Given the description of an element on the screen output the (x, y) to click on. 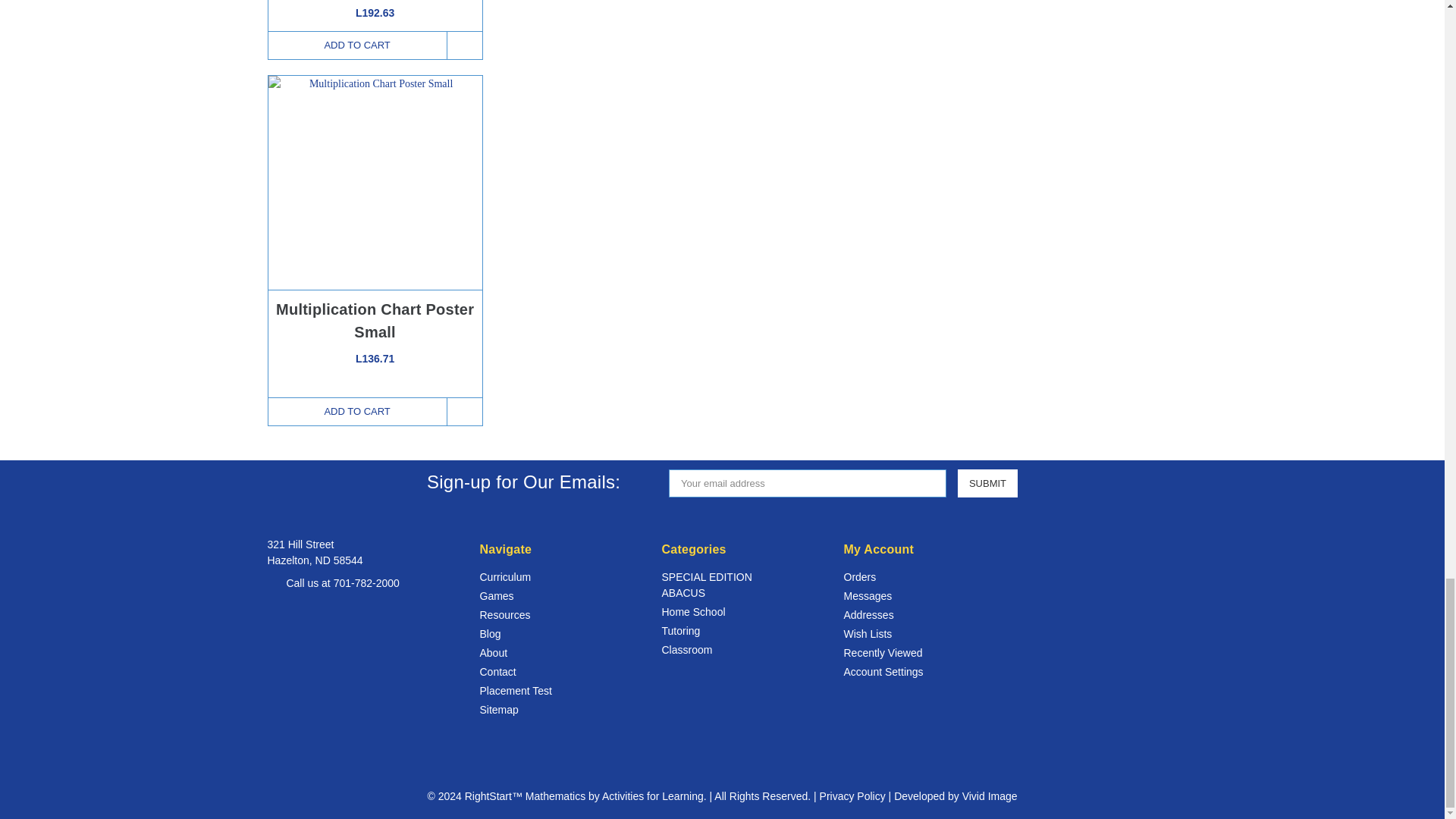
Multiplication Chart Poster Small (374, 182)
Submit (987, 483)
